Given the description of an element on the screen output the (x, y) to click on. 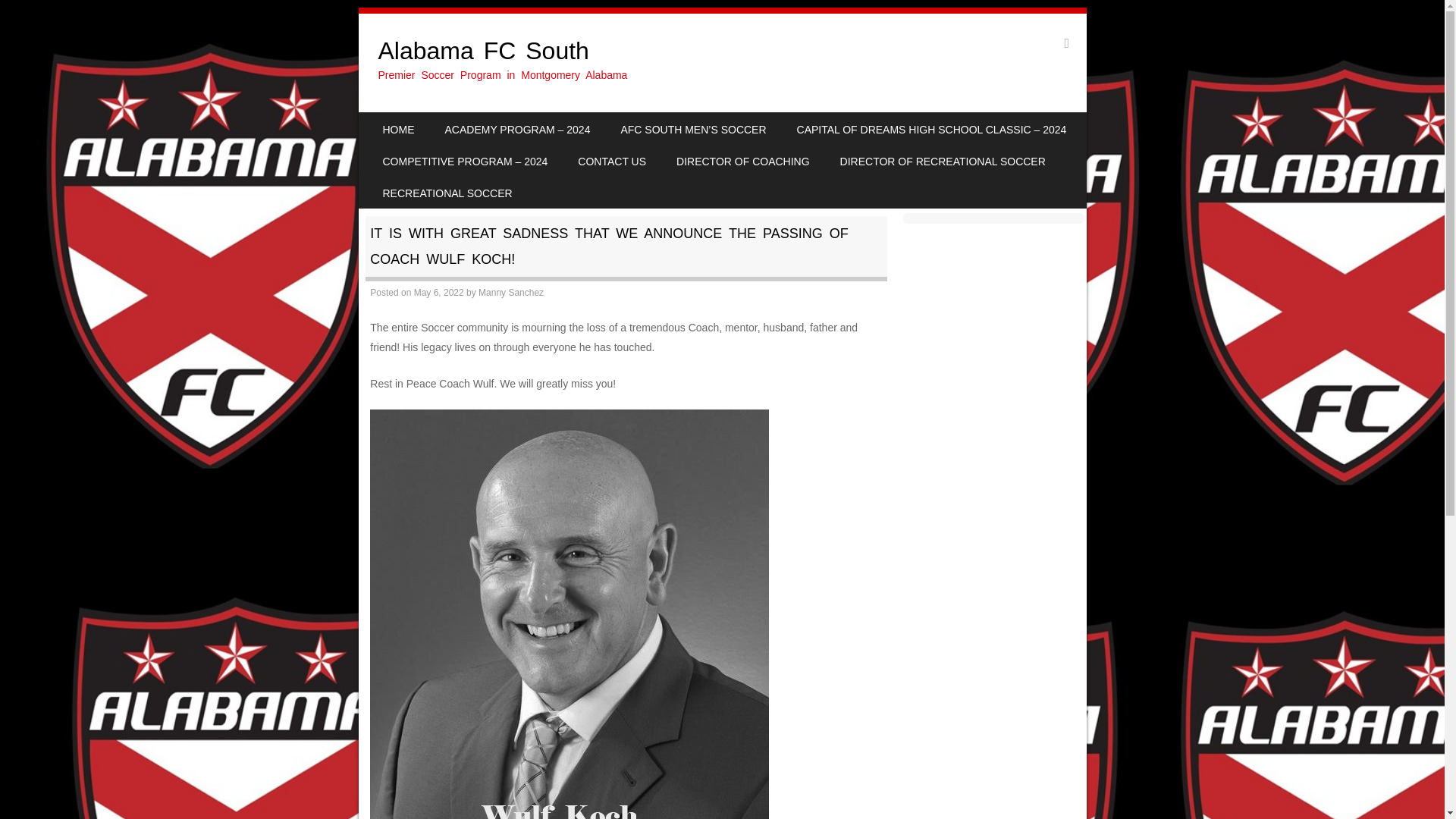
DIRECTOR OF RECREATIONAL SOCCER (943, 160)
RECREATIONAL SOCCER (446, 192)
CONTACT US (611, 160)
HOME (397, 128)
SKIP TO CONTENT (405, 122)
Alabama FC South (483, 50)
10:50 am (438, 292)
Skip to content (405, 122)
Alabama FC South (483, 50)
DIRECTOR OF COACHING (743, 160)
View all posts by Manny Sanchez (511, 292)
